Given the description of an element on the screen output the (x, y) to click on. 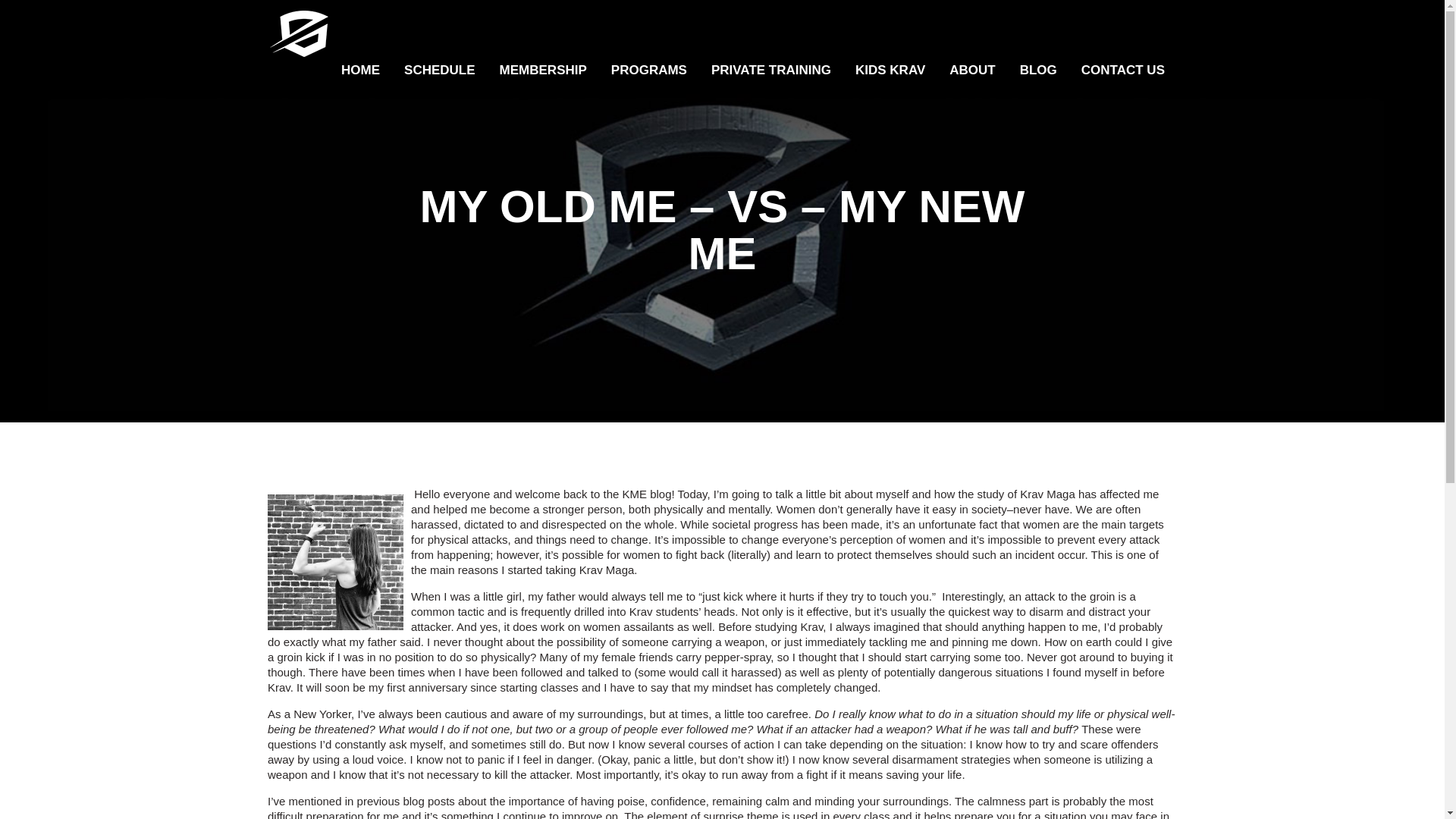
HOME (360, 70)
MEMBERSHIP (542, 70)
BLOG (1037, 70)
KIDS KRAV (890, 70)
CONTACT US (1122, 70)
PROGRAMS (648, 70)
ABOUT (972, 70)
SCHEDULE (439, 70)
PRIVATE TRAINING (770, 70)
